Given the description of an element on the screen output the (x, y) to click on. 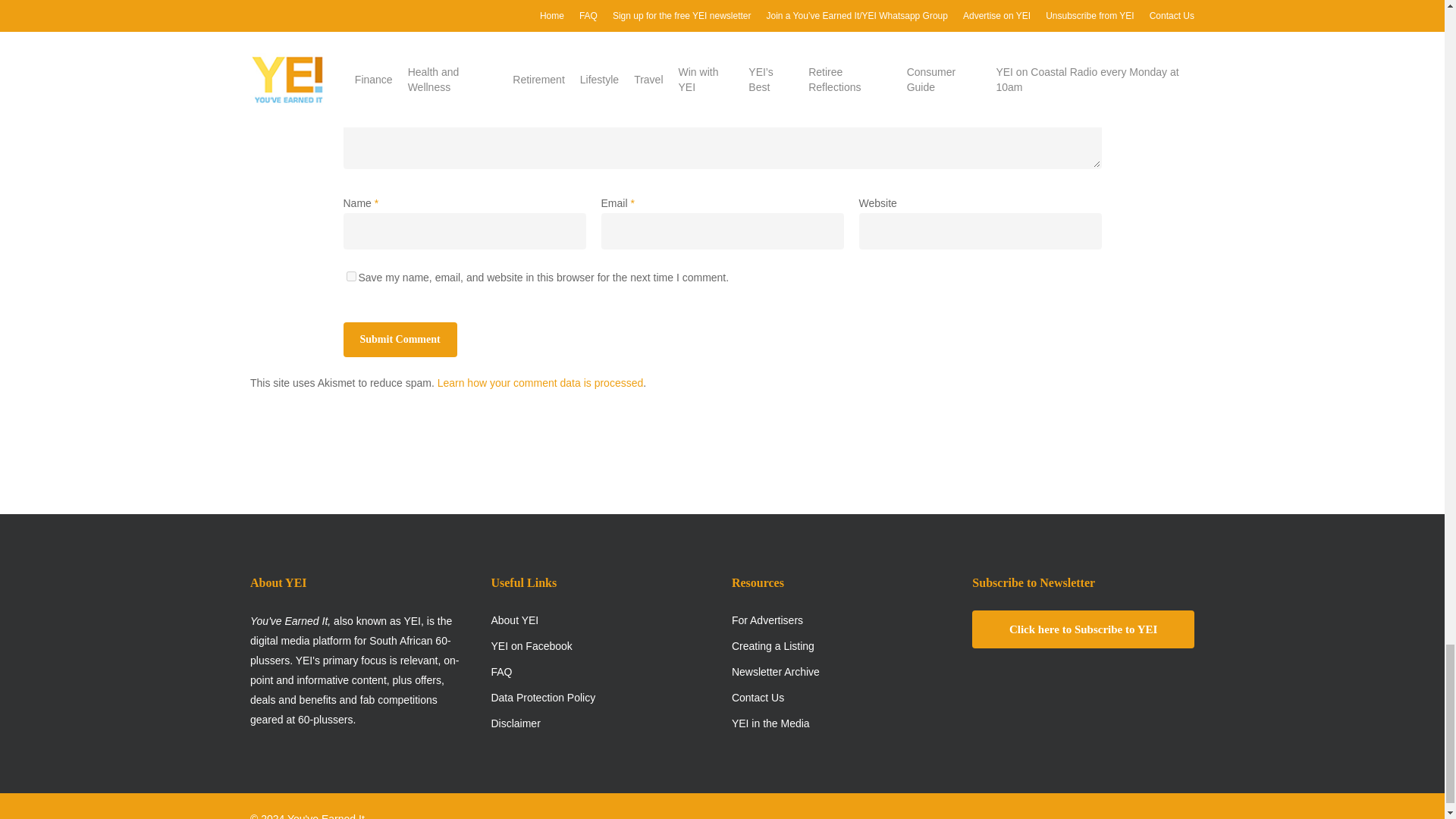
Submit Comment (399, 339)
Learn how your comment data is processed (540, 382)
Submit Comment (399, 339)
yes (350, 276)
